Given the description of an element on the screen output the (x, y) to click on. 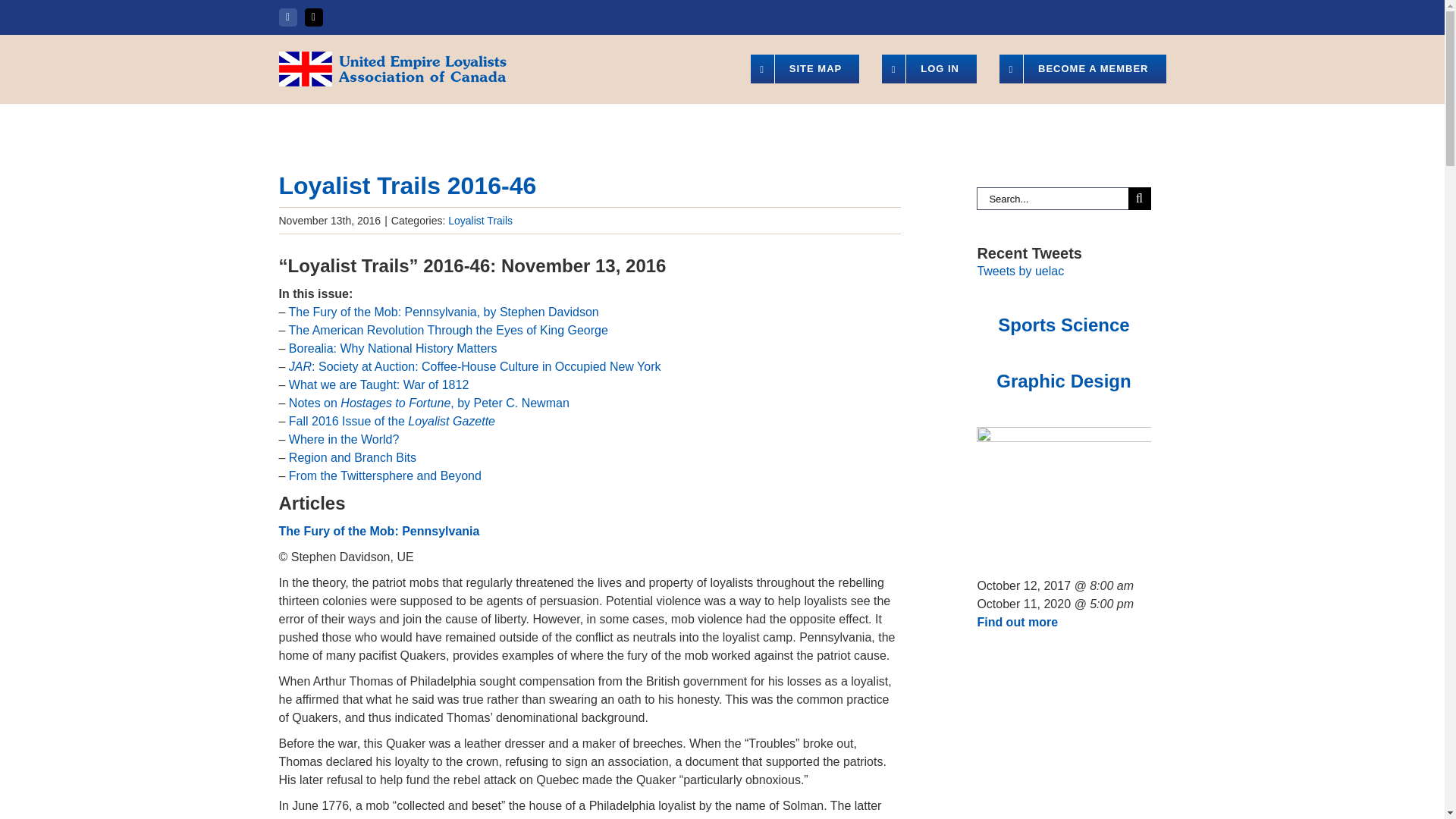
Fall 2016 Issue of the Loyalist Gazette (391, 420)
X (313, 17)
Facebook (288, 17)
X (313, 17)
Notes on Hostages to Fortune, by Peter C. Newman (428, 402)
Borealia: Why National History Matters (392, 348)
Facebook (288, 17)
SITE MAP (805, 69)
What we are Taught: War of 1812 (378, 384)
Loyalist Trails (480, 220)
LOG IN (929, 69)
BECOME A MEMBER (1082, 69)
Where in the World? (343, 439)
The Fury of the Mob: Pennsylvania (379, 530)
